Given the description of an element on the screen output the (x, y) to click on. 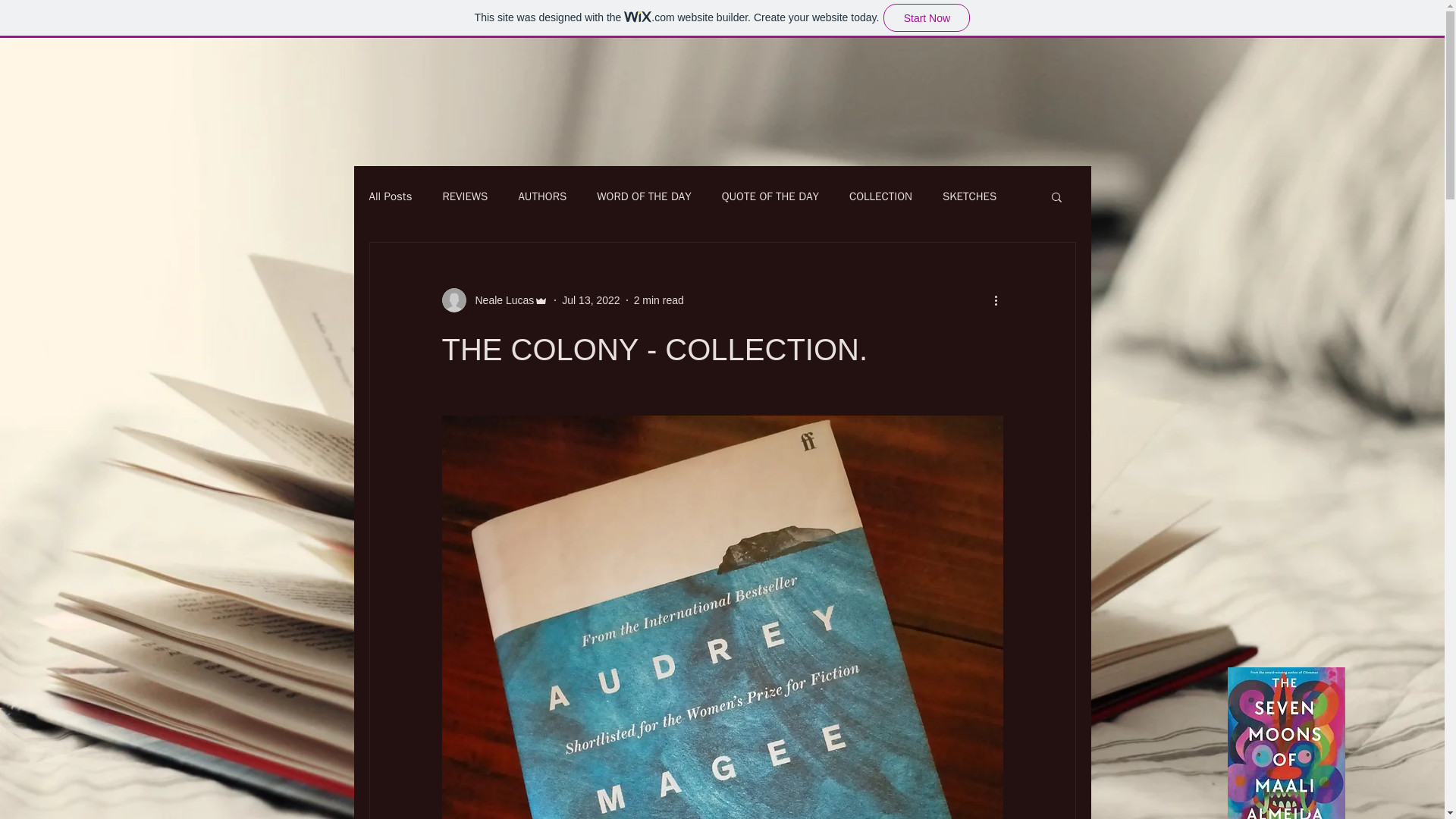
REVIEWS (464, 196)
AUTHORS (542, 196)
Neale Lucas (499, 300)
COLLECTION (880, 196)
QUOTE OF THE DAY (770, 196)
2 min read (658, 300)
All Posts (390, 196)
WORD OF THE DAY (643, 196)
Jul 13, 2022 (591, 300)
Neale Lucas (494, 300)
SKETCHES (968, 196)
